Given the description of an element on the screen output the (x, y) to click on. 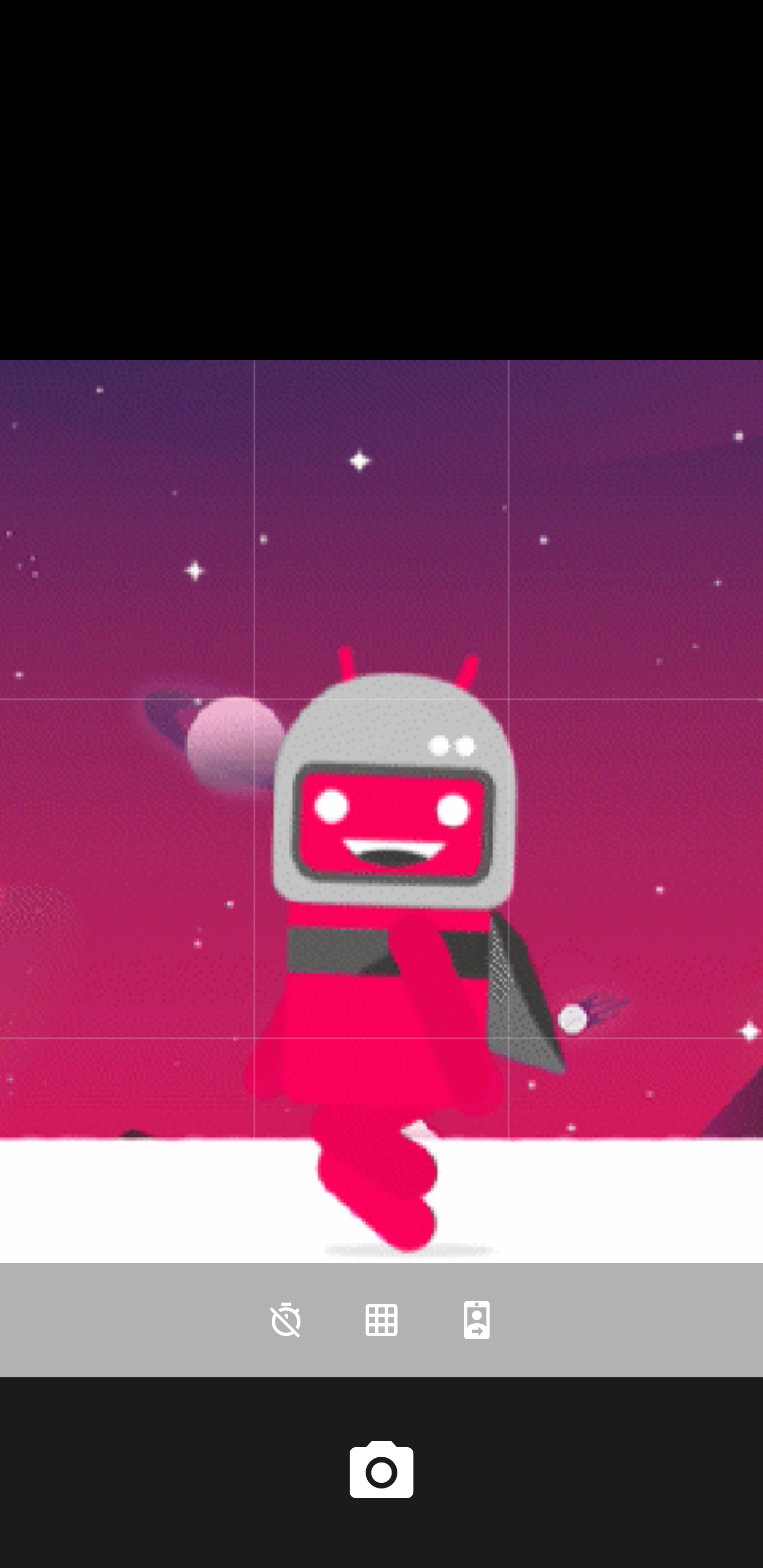
Countdown timer is off (285, 1319)
Grid lines on (381, 1319)
Front camera (476, 1319)
Shutter (381, 1472)
